Given the description of an element on the screen output the (x, y) to click on. 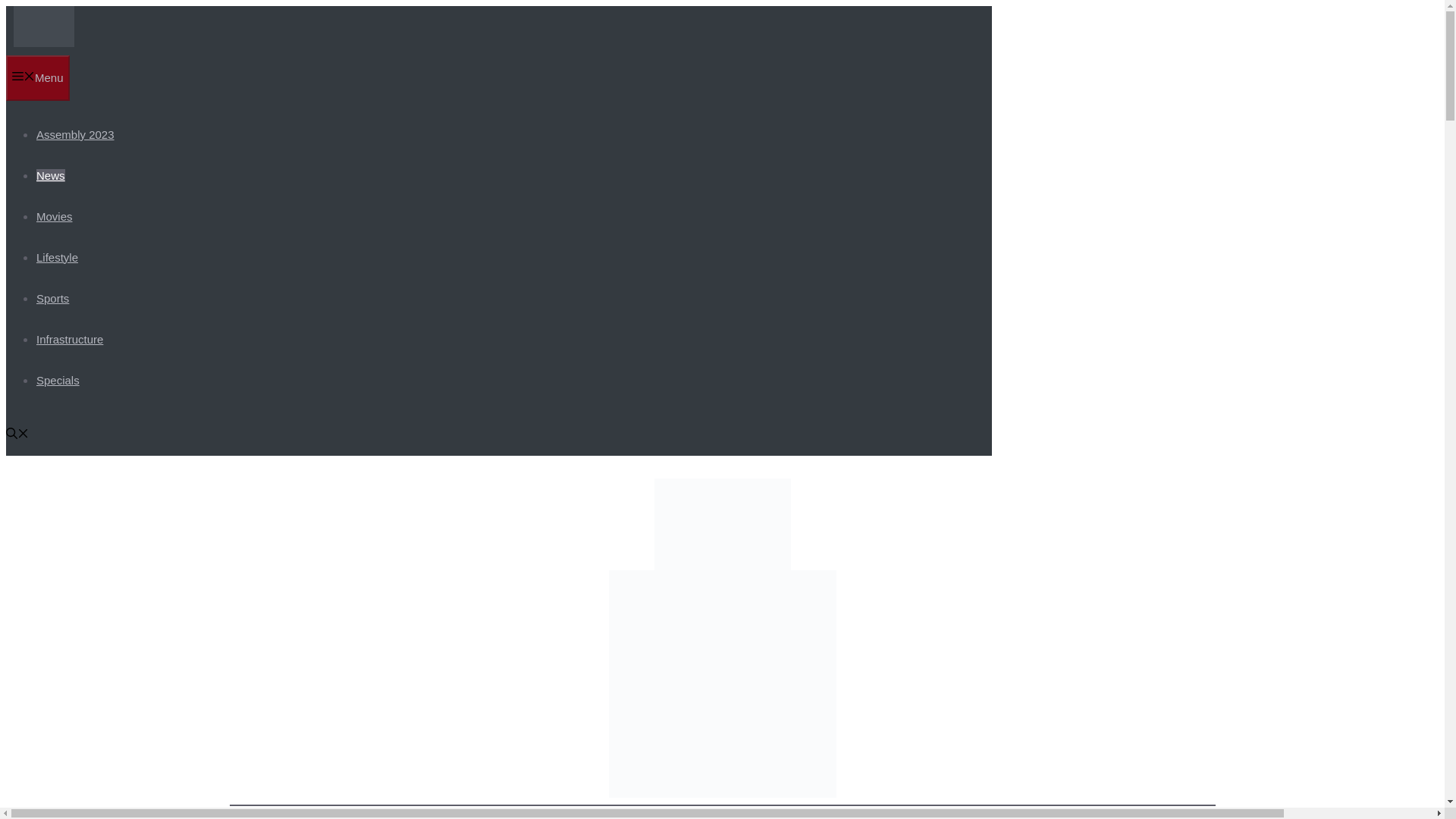
Infrastructure (69, 338)
Assembly 2023 (75, 133)
Movies (54, 215)
All About Belgaum (43, 25)
Sports (52, 297)
All About Belgaum (43, 42)
Menu (37, 77)
Specials (58, 379)
Lifestyle (57, 256)
News (50, 174)
